Given the description of an element on the screen output the (x, y) to click on. 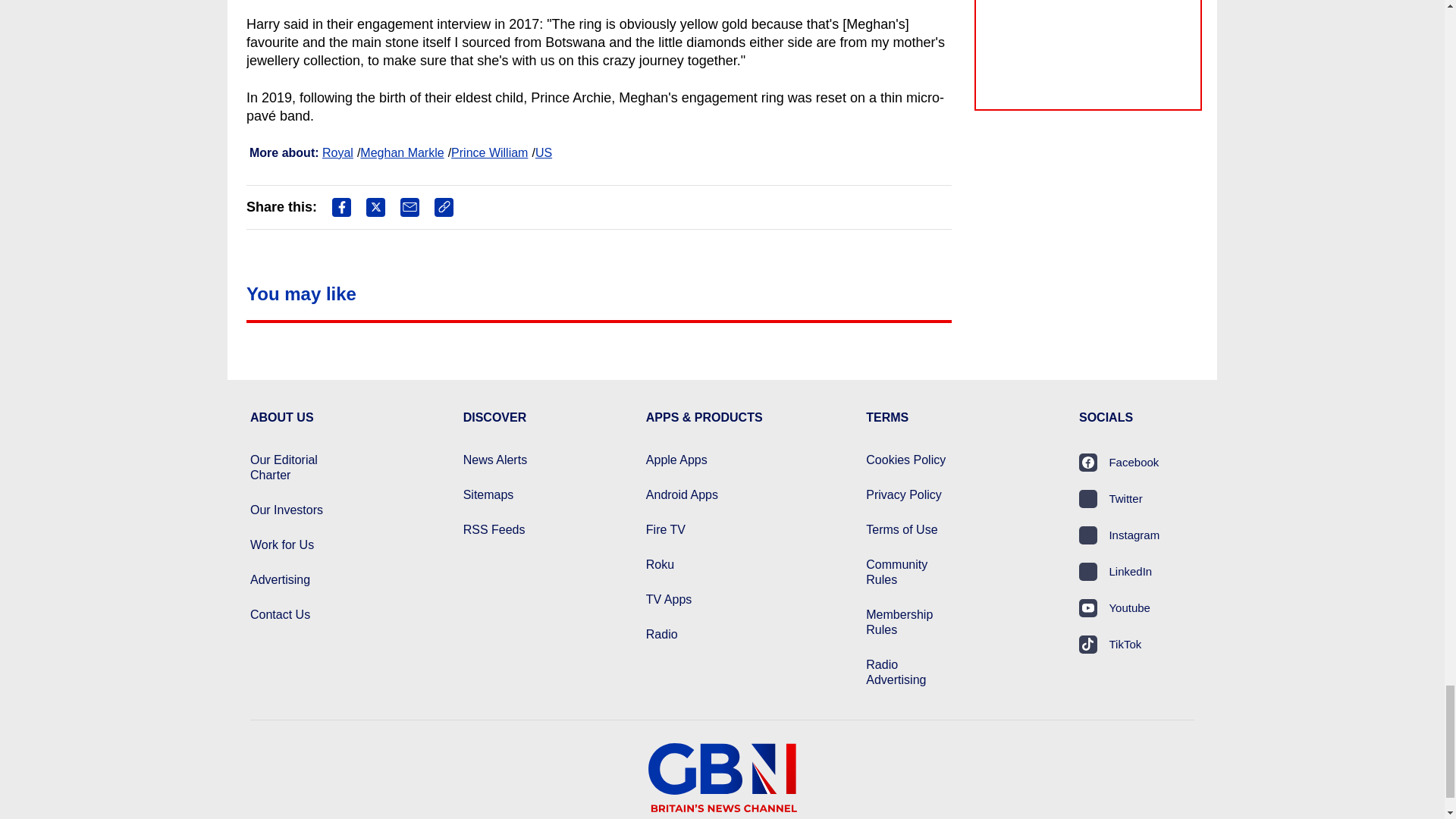
Copy this link to clipboard (442, 207)
